Given the description of an element on the screen output the (x, y) to click on. 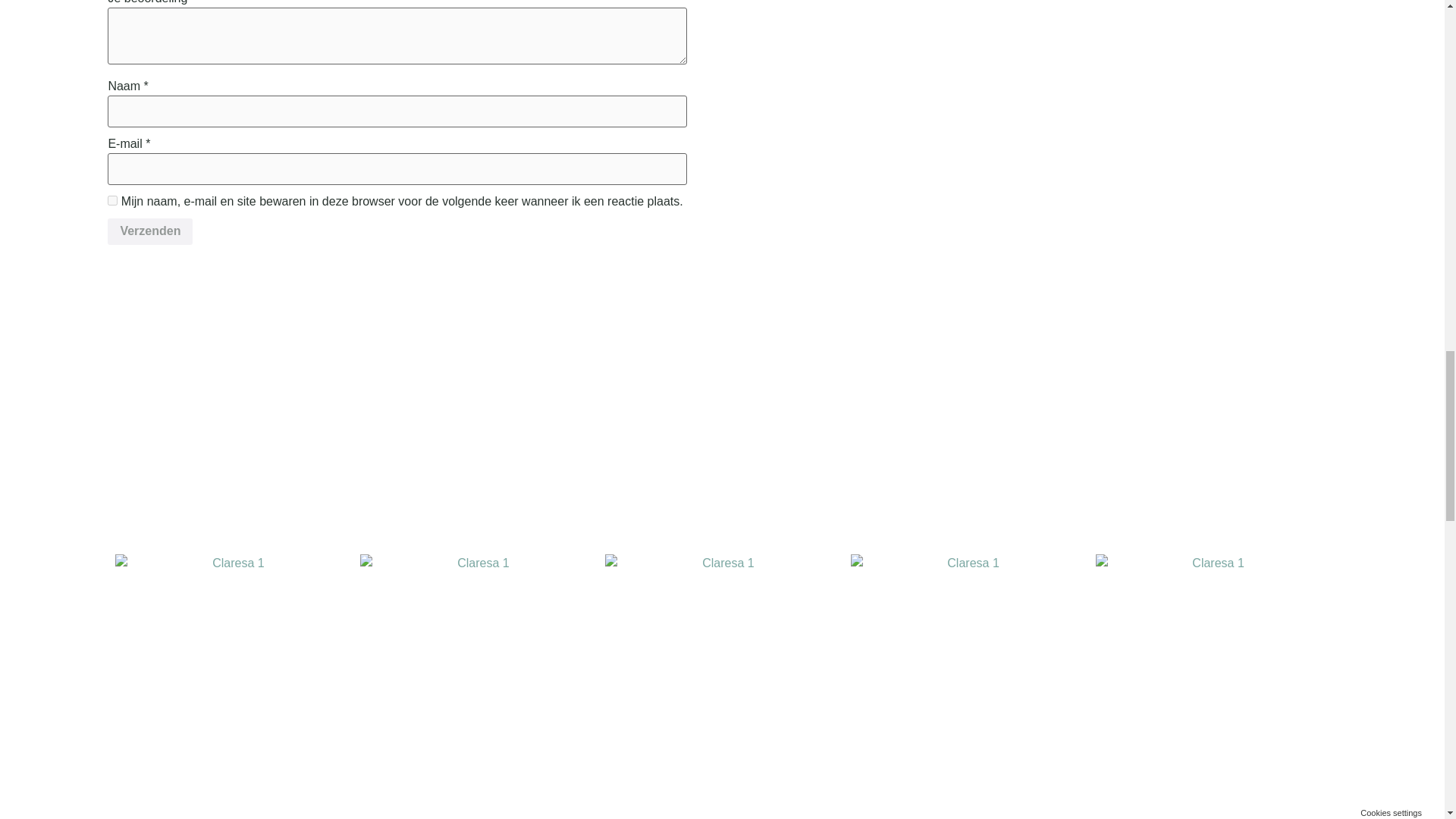
Verzenden (149, 231)
Claresa1 Kappers Co (721, 670)
yes (112, 200)
Claresa1 Kappers Co (1212, 670)
Claresa1 Kappers Co (476, 670)
Claresa1 Kappers Co (967, 670)
Claresa1 Kappers Co (232, 670)
